Given the description of an element on the screen output the (x, y) to click on. 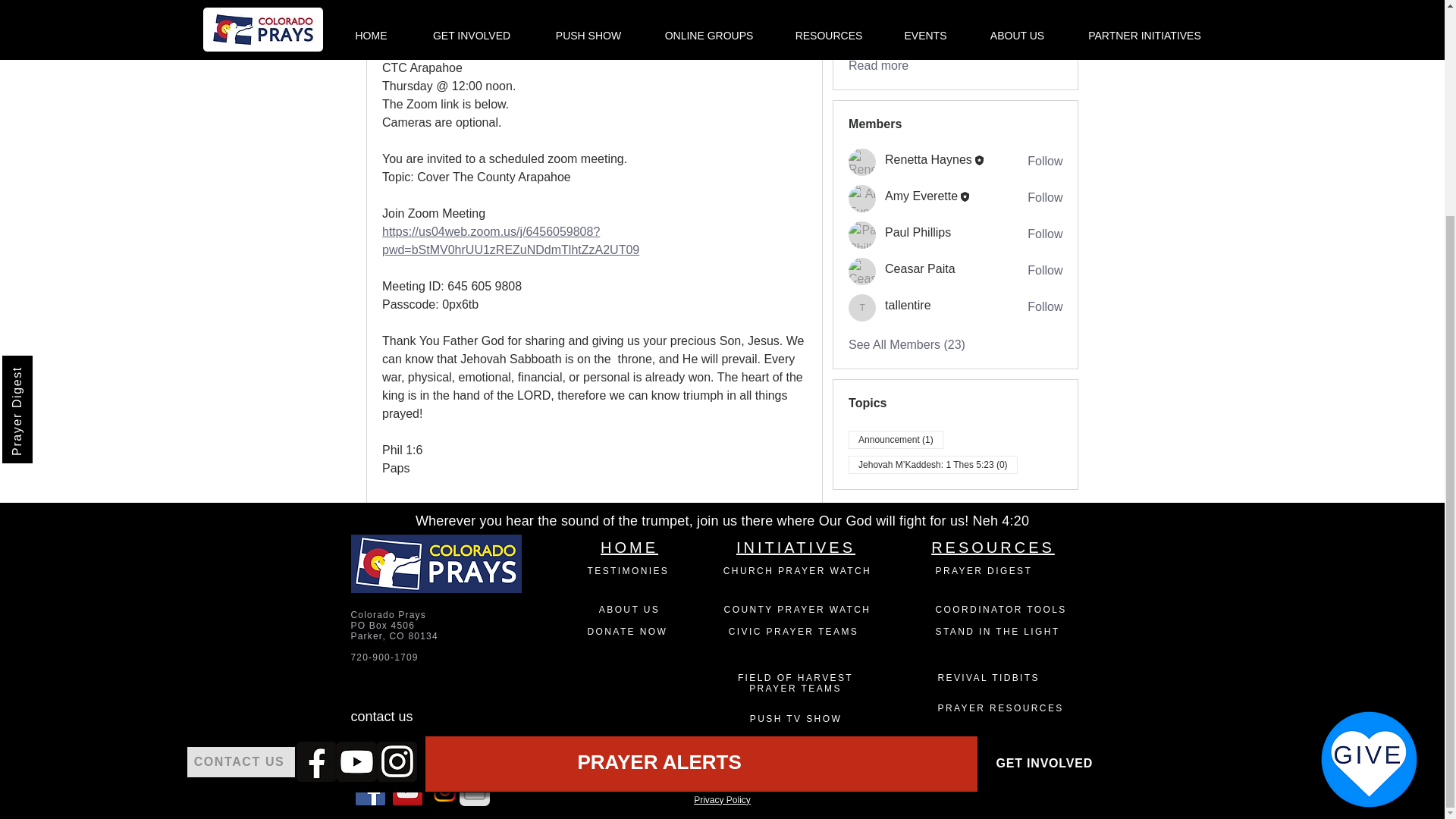
Ceasar Paita (862, 271)
Read more (878, 65)
Write a comment... (593, 567)
Renetta Haynes (862, 162)
0 Comments (776, 520)
Patricia Ann Prioleau-Santiago (401, 22)
Amy Everette (862, 198)
Prayer Digest (56, 87)
tallentire (862, 307)
